Given the description of an element on the screen output the (x, y) to click on. 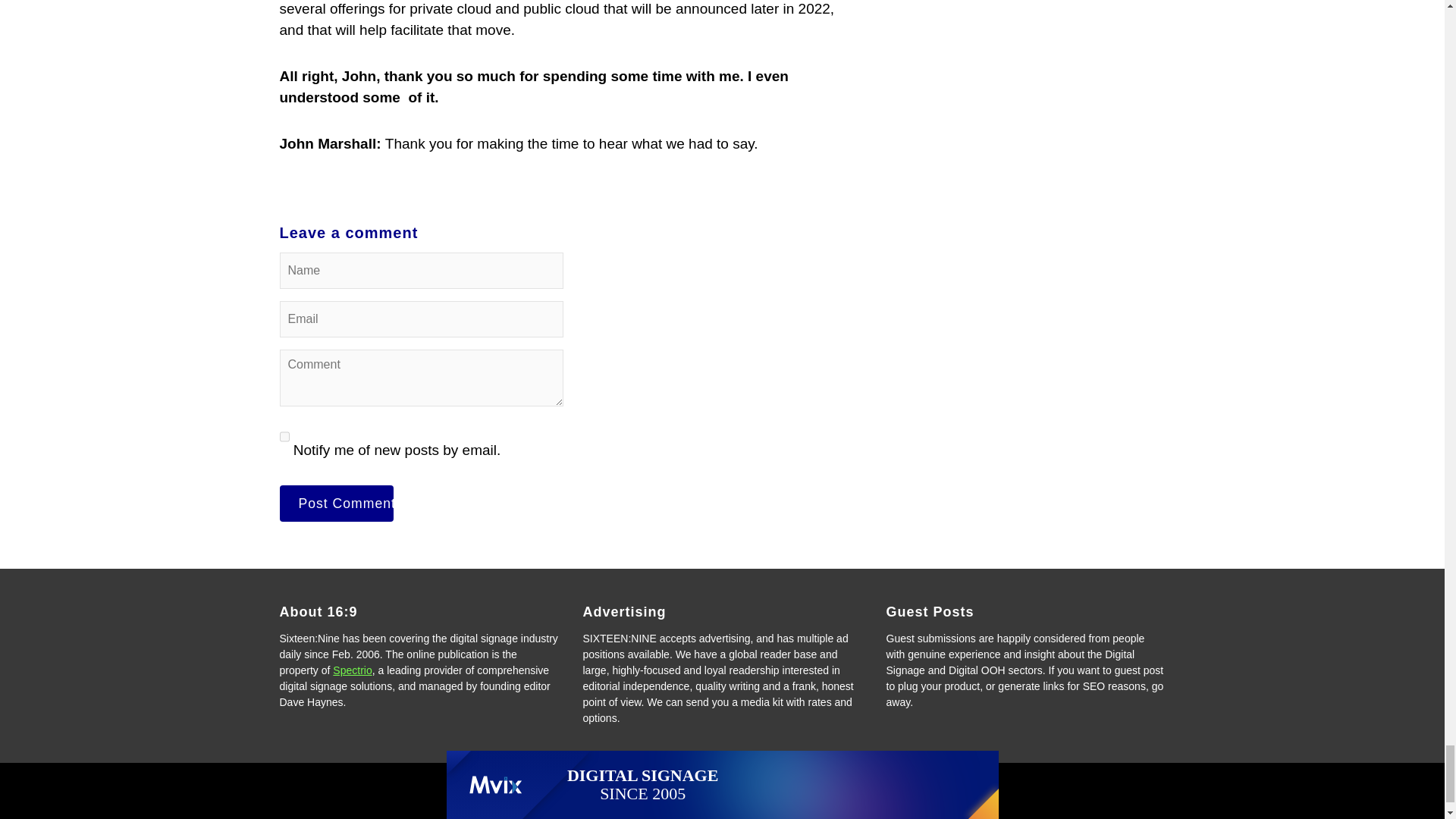
Post Comment (336, 503)
A SPECTRIO COMPANY (721, 808)
Post Comment (336, 503)
Spectrio (352, 670)
